Given the description of an element on the screen output the (x, y) to click on. 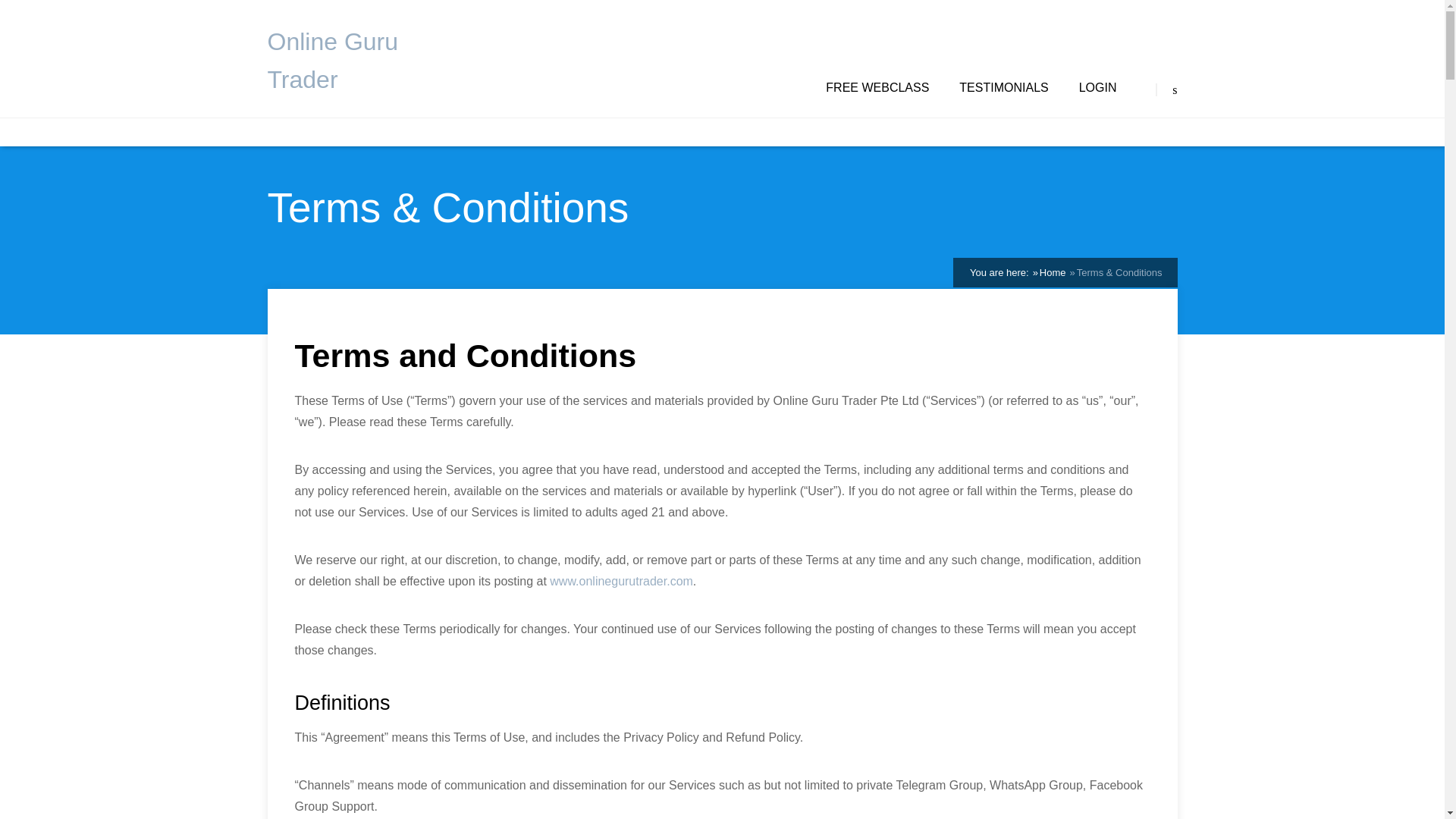
FREE WEBCLASS (876, 88)
www.onlinegurutrader.com (621, 581)
Home (1052, 272)
TESTIMONIALS (1003, 88)
LOGIN (1097, 88)
Online Guru Trader (342, 60)
